Given the description of an element on the screen output the (x, y) to click on. 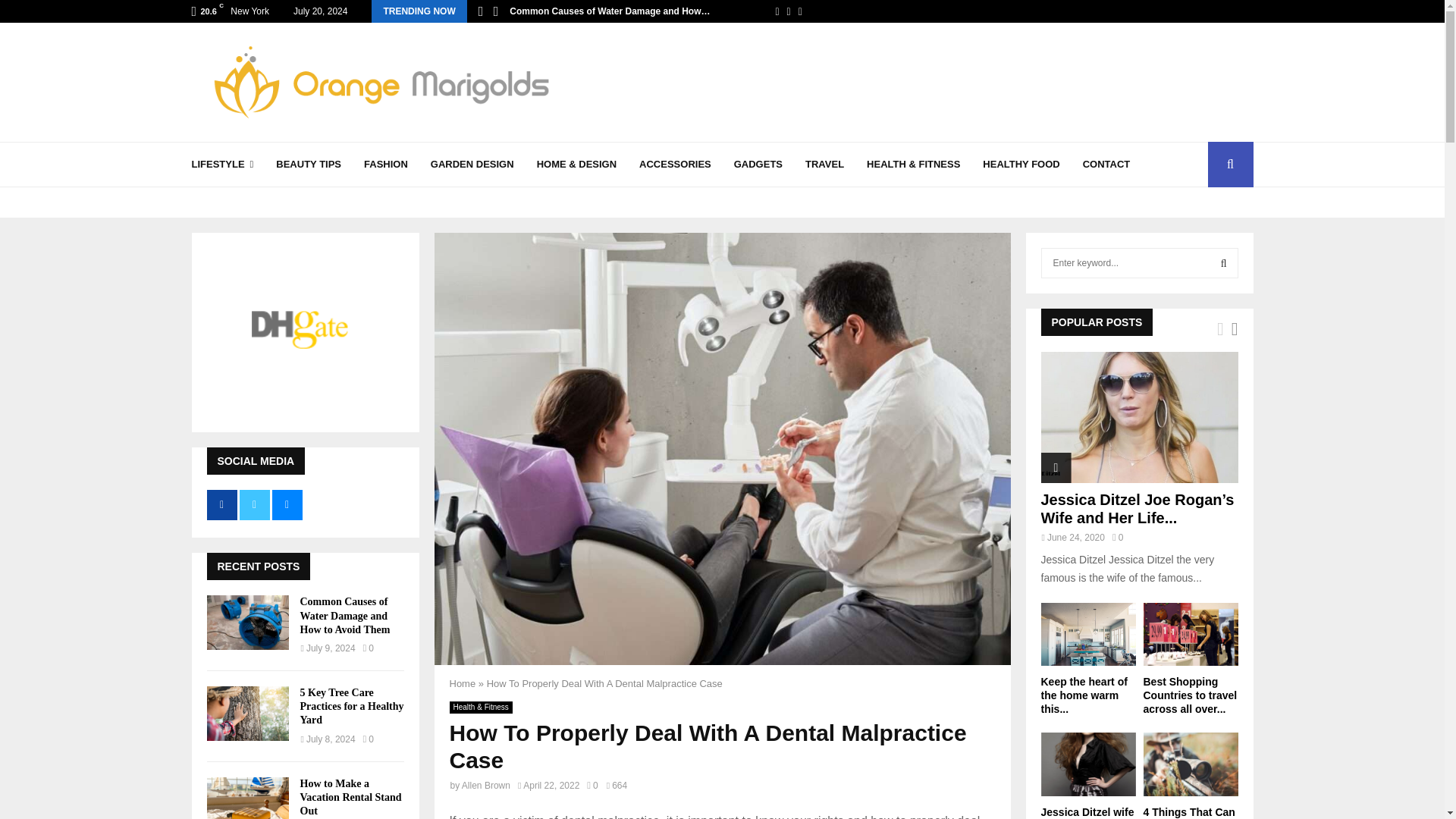
CONTACT (1107, 164)
 Common Causes of Water Damage and How to Avoid Them  (344, 615)
BEAUTY TIPS (308, 164)
GARDEN DESIGN (471, 164)
5 Key Tree Care Practices for a Healthy Yard (247, 713)
GADGETS (758, 164)
HEALTHY FOOD (1020, 164)
LIFESTYLE (221, 164)
ACCESSORIES (675, 164)
FASHION (385, 164)
Common Causes of Water Damage and How to Avoid Them (247, 622)
